Given the description of an element on the screen output the (x, y) to click on. 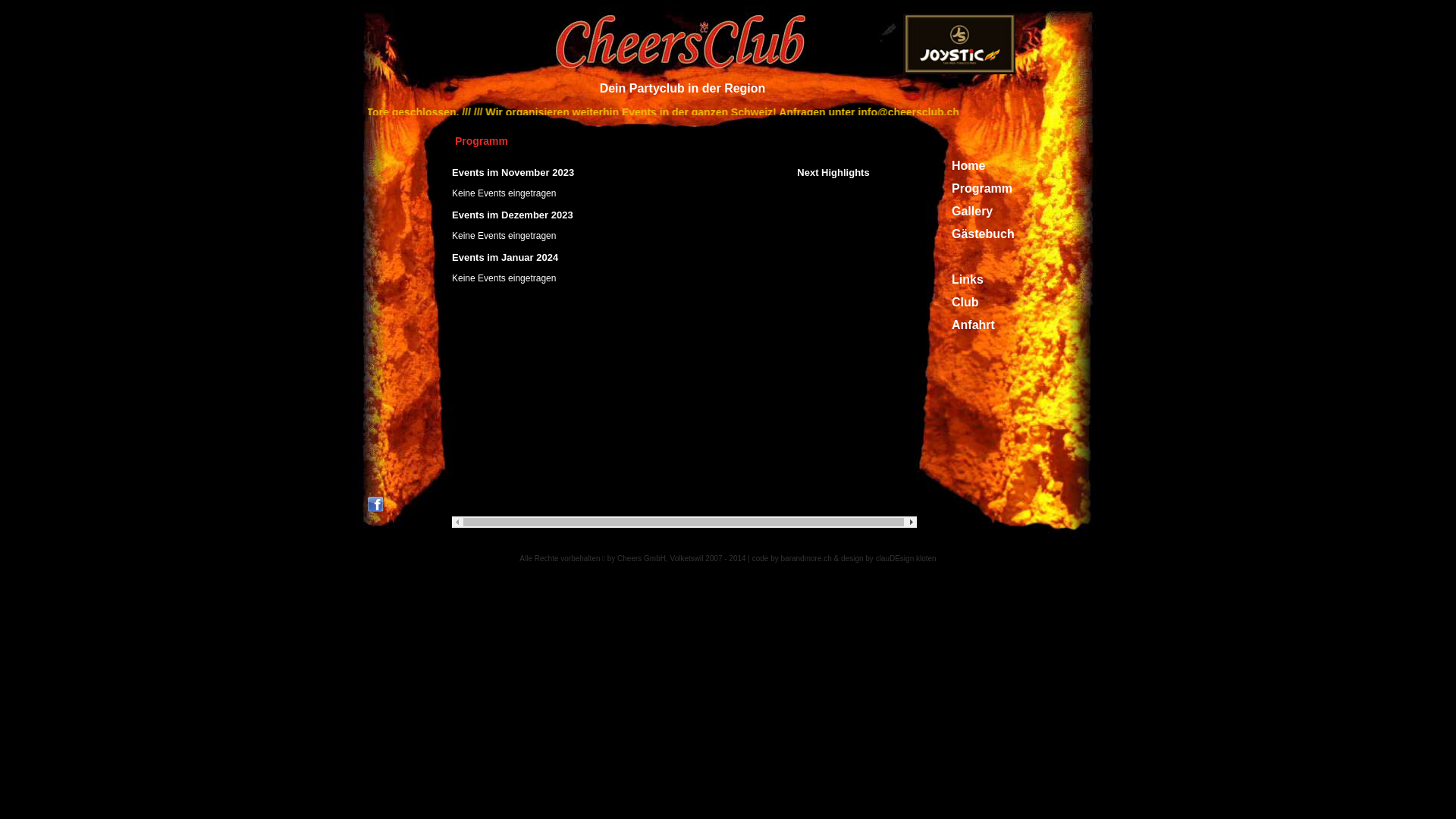
Club Element type: text (965, 301)
Programm Element type: text (981, 188)
Home Element type: text (968, 165)
Gallery Element type: text (971, 210)
clauDEsign kloten Element type: text (905, 558)
barandmore.ch Element type: text (806, 558)
Links Element type: text (967, 279)
Anfahrt Element type: text (972, 324)
